Given the description of an element on the screen output the (x, y) to click on. 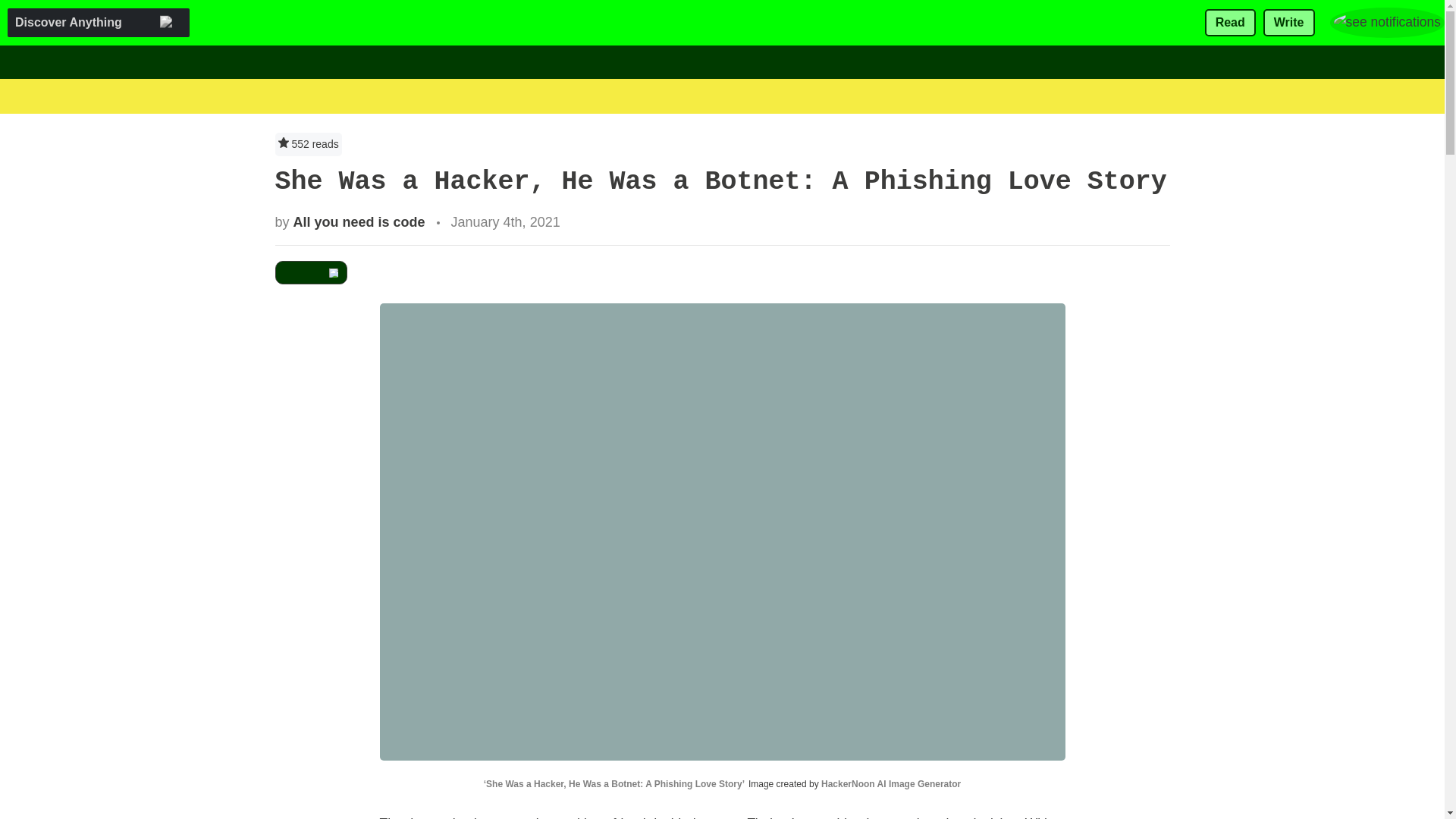
Write (1288, 22)
HackerNoon AI Image Generator (890, 783)
Read (1230, 22)
All you need is code (359, 222)
